Given the description of an element on the screen output the (x, y) to click on. 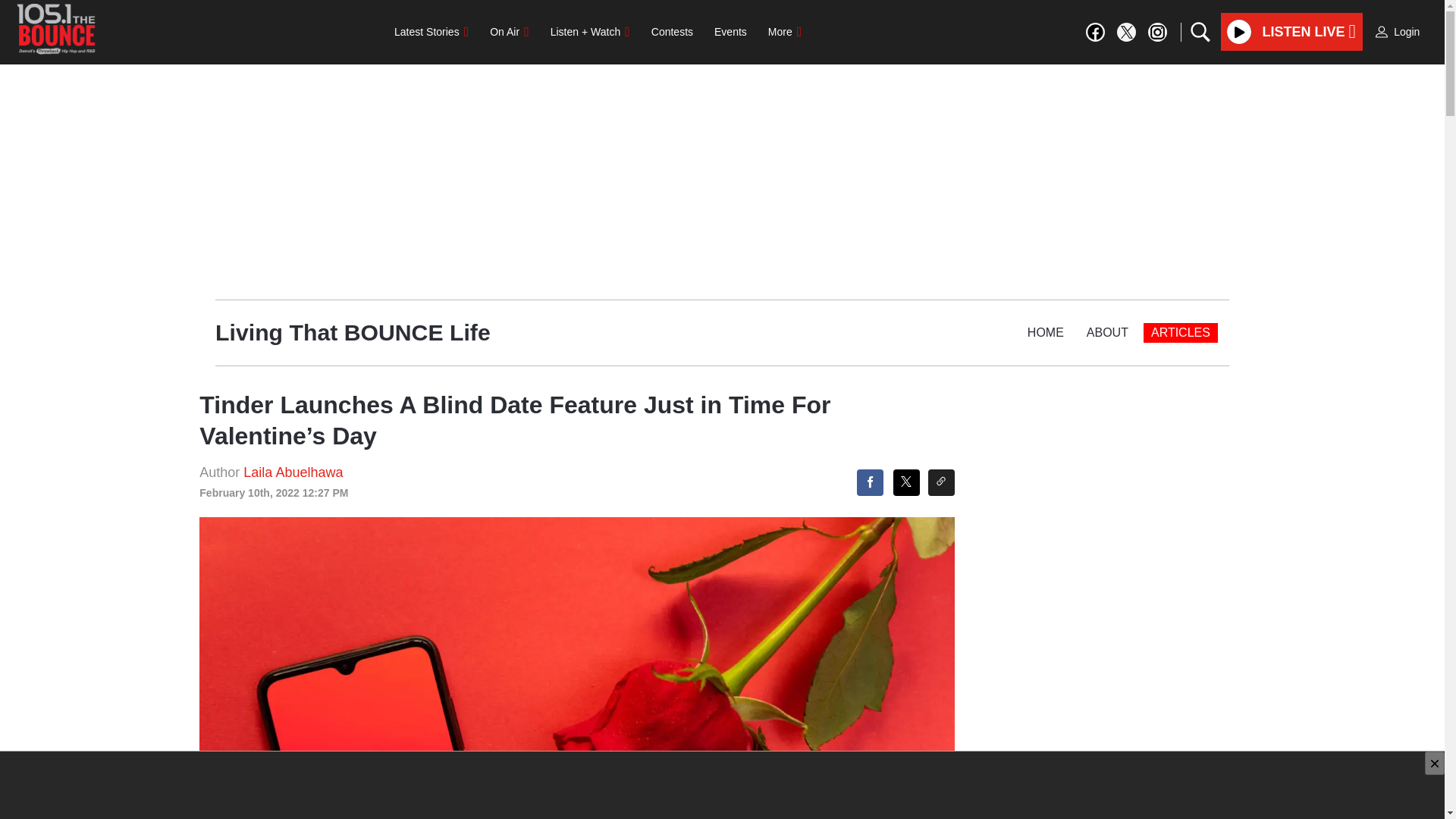
Events (730, 31)
Latest Stories (431, 31)
Laila Abuelhawa (292, 472)
On Air (508, 31)
Close AdCheckmark indicating ad close (1434, 763)
Contests (671, 31)
More (784, 31)
